Given the description of an element on the screen output the (x, y) to click on. 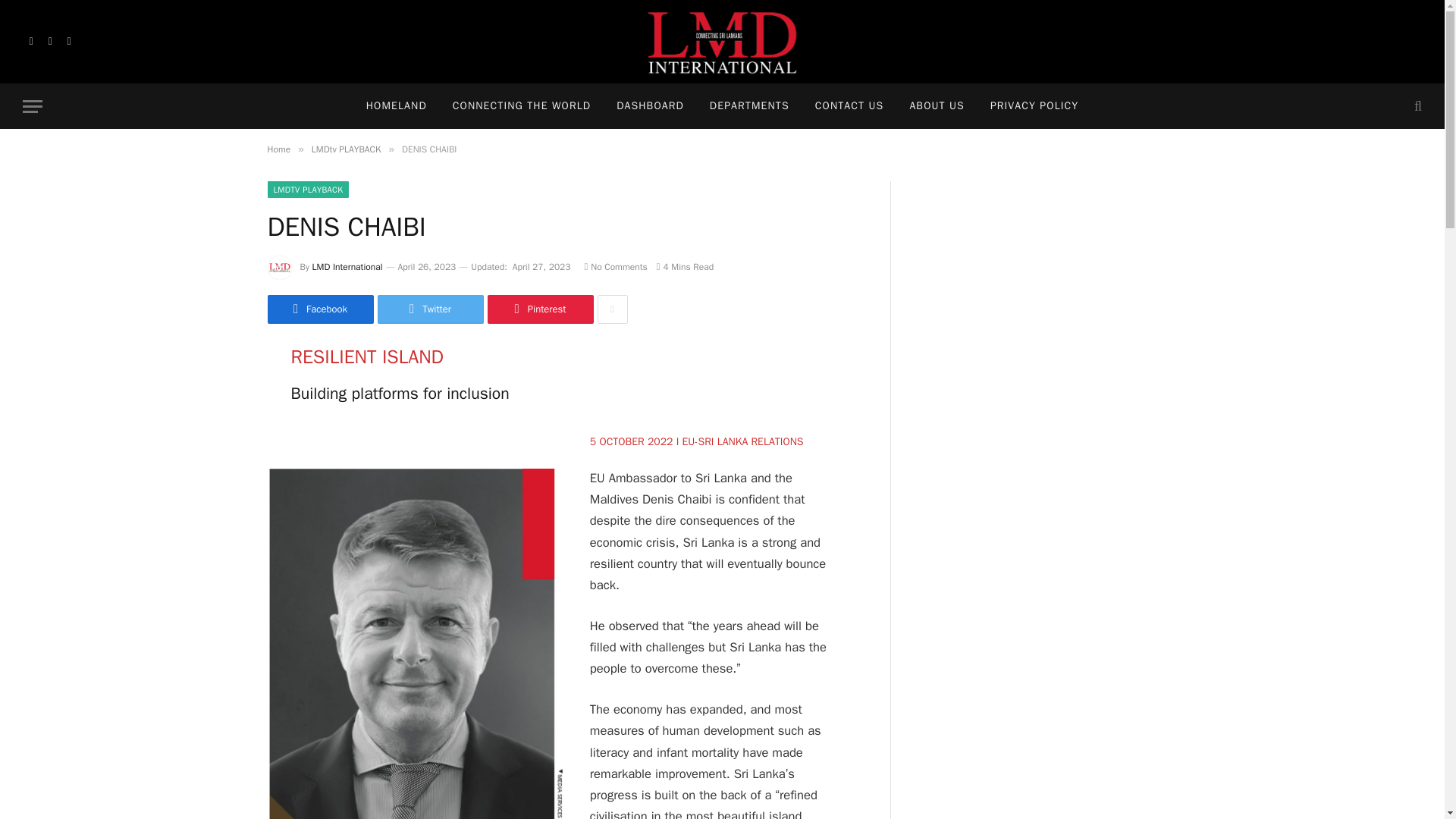
LMDtv PLAYBACK (346, 149)
Share on Facebook (319, 308)
HOMELAND (396, 105)
Twitter (430, 308)
PRIVACY POLICY (1033, 105)
Show More Social Sharing (611, 308)
Share on Pinterest (539, 308)
CONTACT US (849, 105)
LMDTV PLAYBACK (307, 189)
CONNECTING THE WORLD (521, 105)
